Given the description of an element on the screen output the (x, y) to click on. 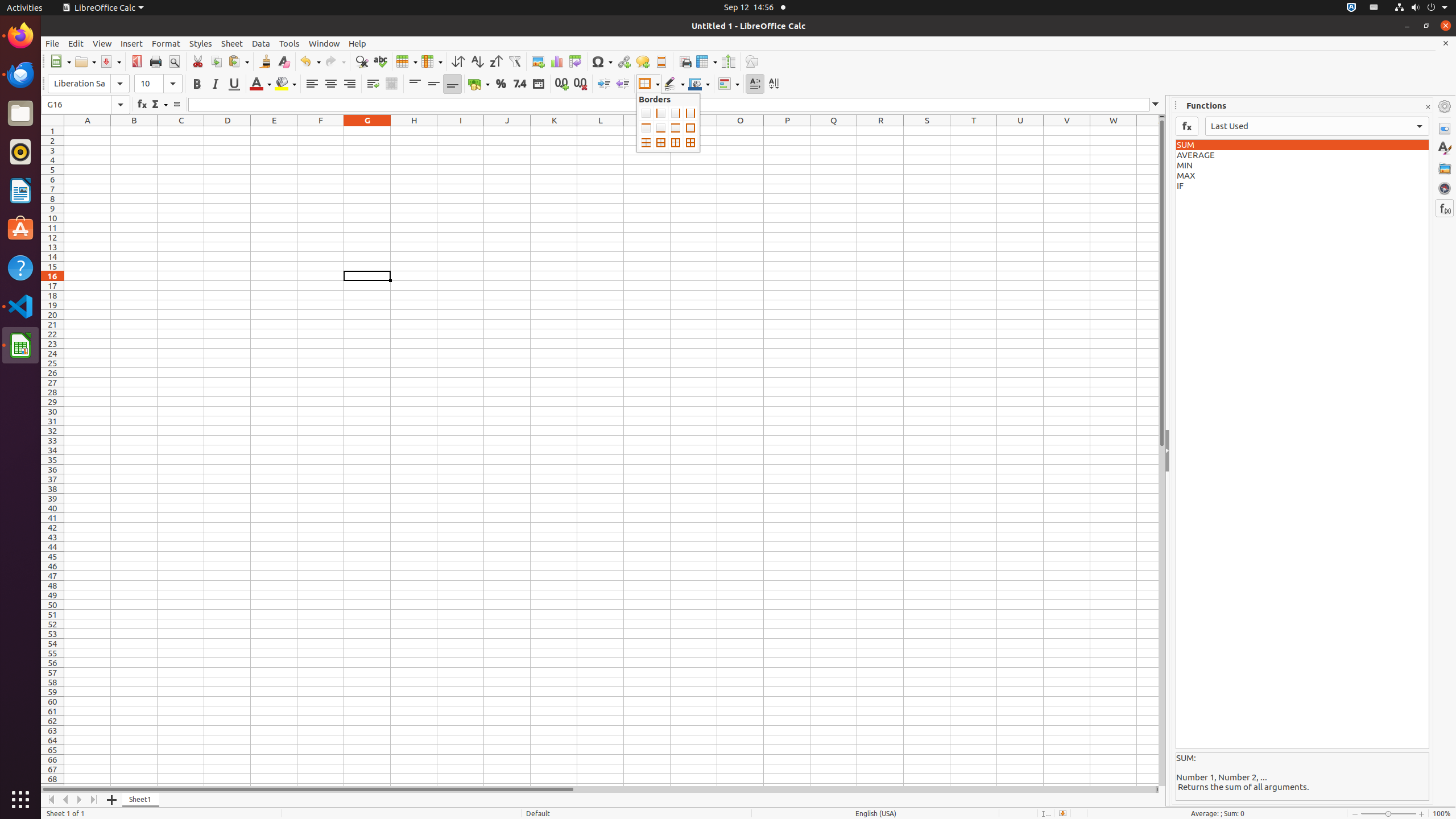
Redo Element type: push-button (334, 61)
U1 Element type: table-cell (1020, 130)
Move To Home Element type: push-button (51, 799)
Column Element type: push-button (431, 61)
Hyperlink Element type: toggle-button (623, 61)
